Given the description of an element on the screen output the (x, y) to click on. 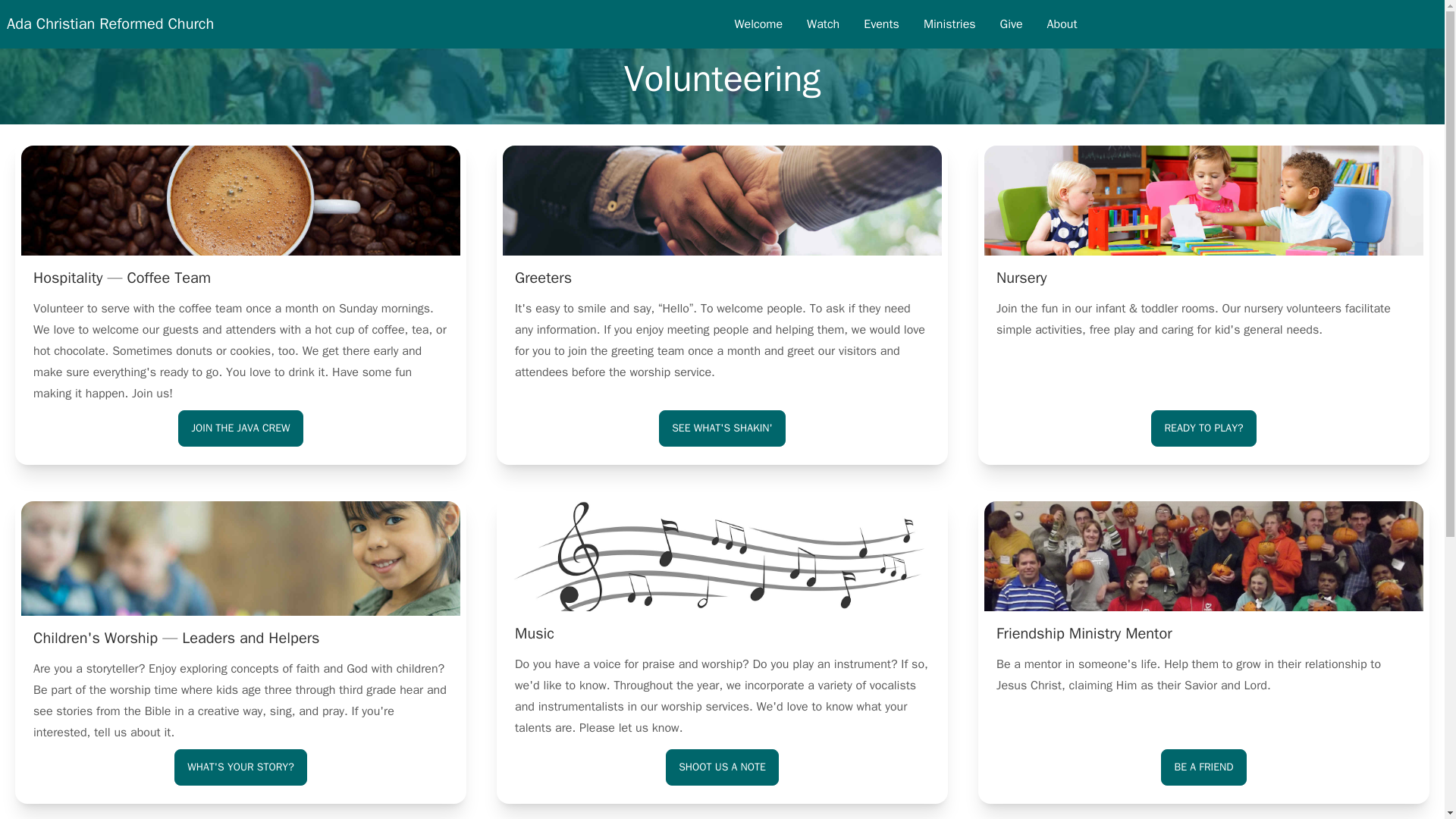
Events (881, 24)
Ada Christian Reformed Church (109, 23)
